Given the description of an element on the screen output the (x, y) to click on. 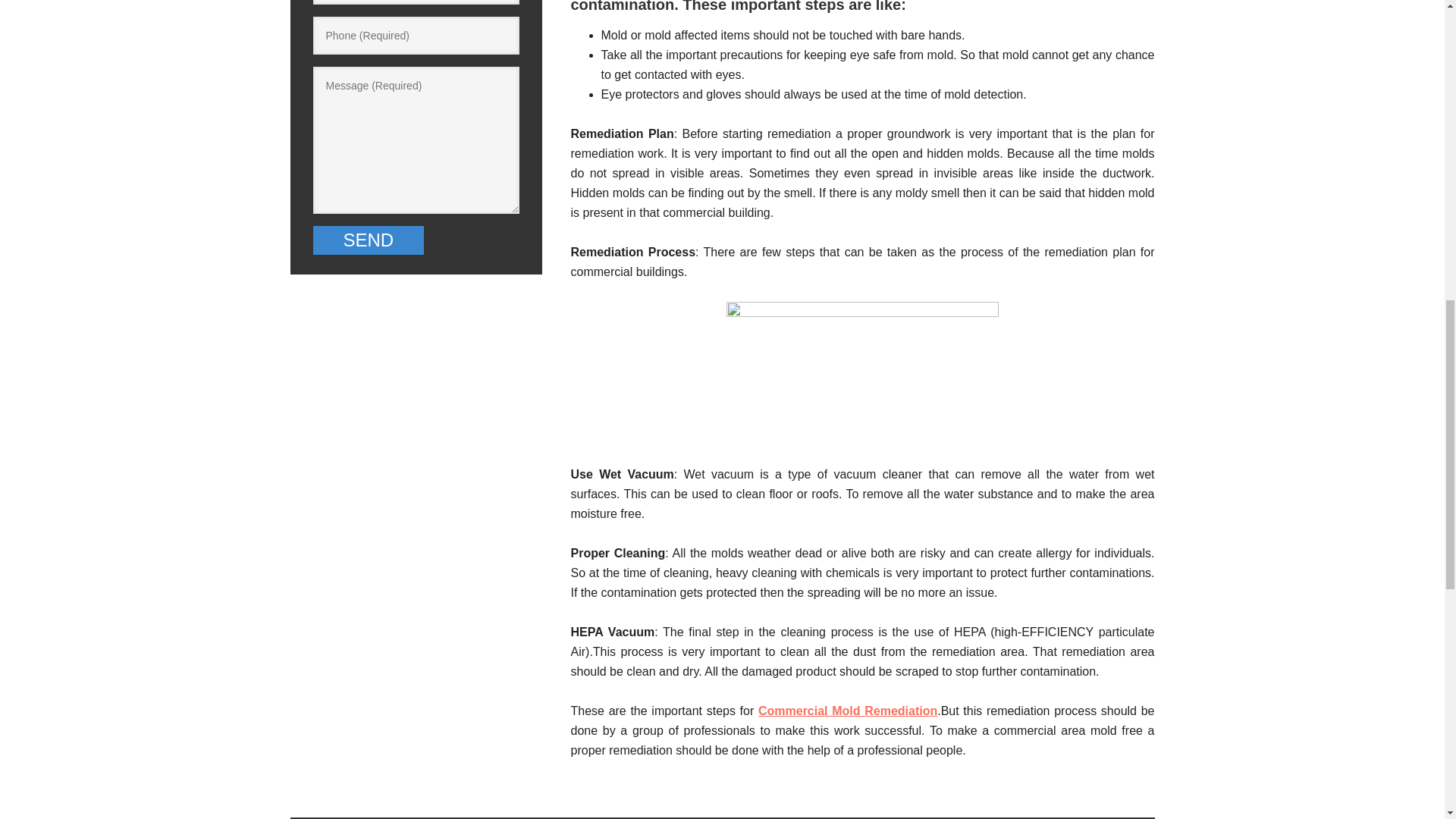
Send (368, 240)
Send (368, 240)
Commercial Mold Remediation (847, 710)
